Given the description of an element on the screen output the (x, y) to click on. 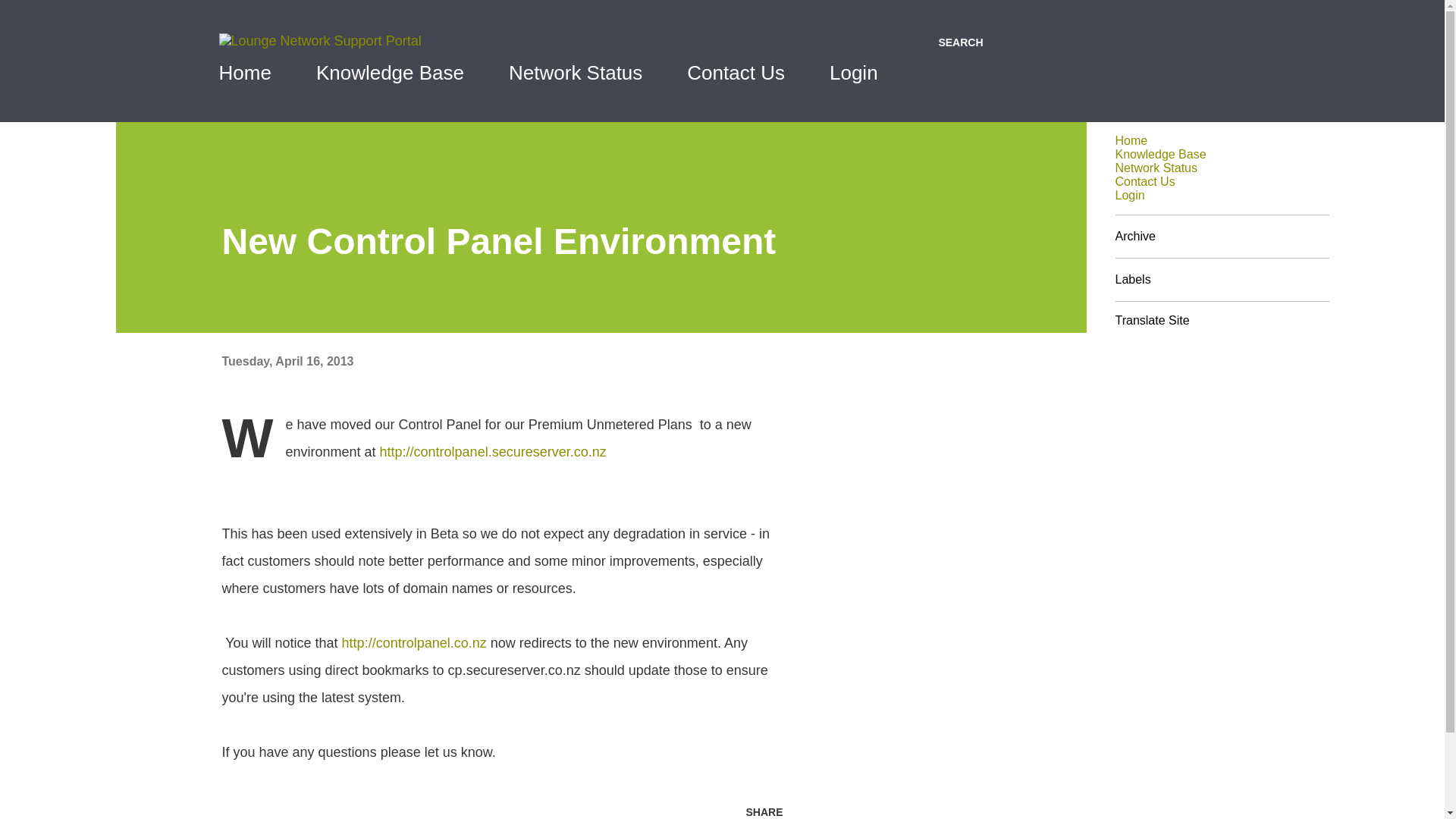
Tuesday, April 16, 2013 (287, 360)
Network Status (574, 72)
Contact Us (1144, 181)
Login (853, 72)
Knowledge Base (390, 72)
Contact Us (735, 72)
SEARCH (959, 42)
Login (1129, 195)
Network Status (1155, 167)
Home (248, 72)
